Given the description of an element on the screen output the (x, y) to click on. 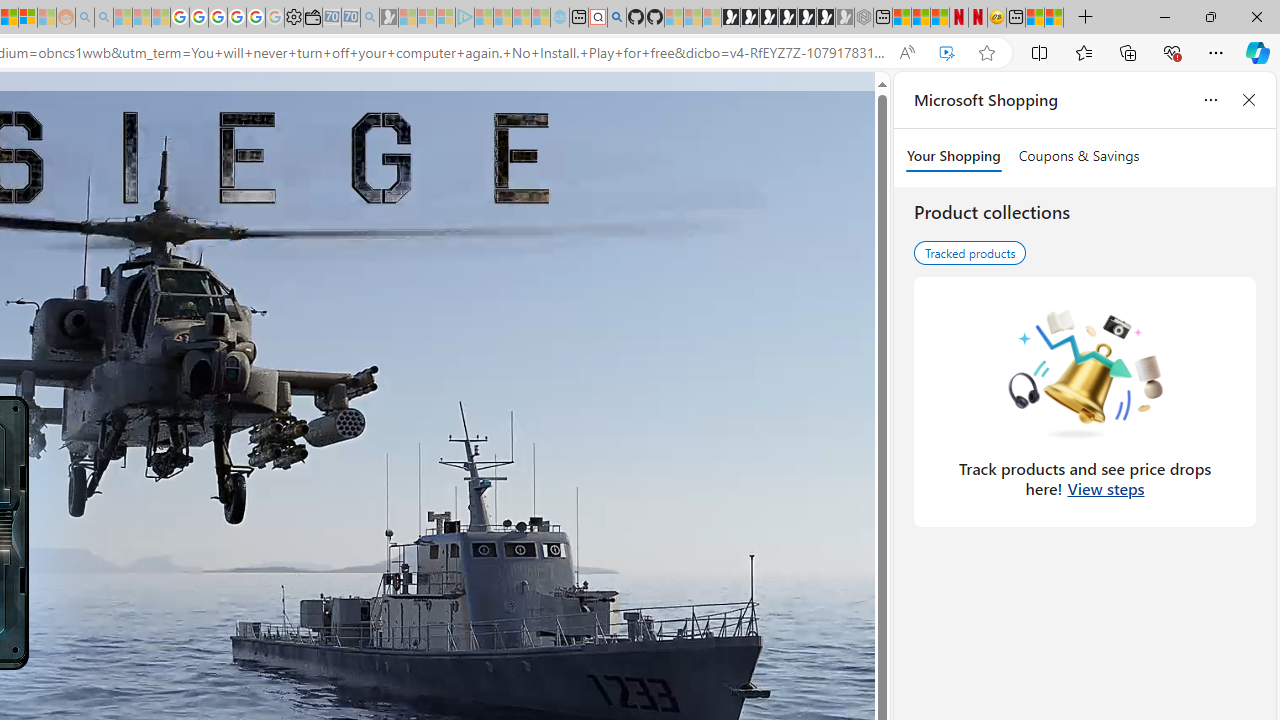
Wildlife - MSN (1035, 17)
